Given the description of an element on the screen output the (x, y) to click on. 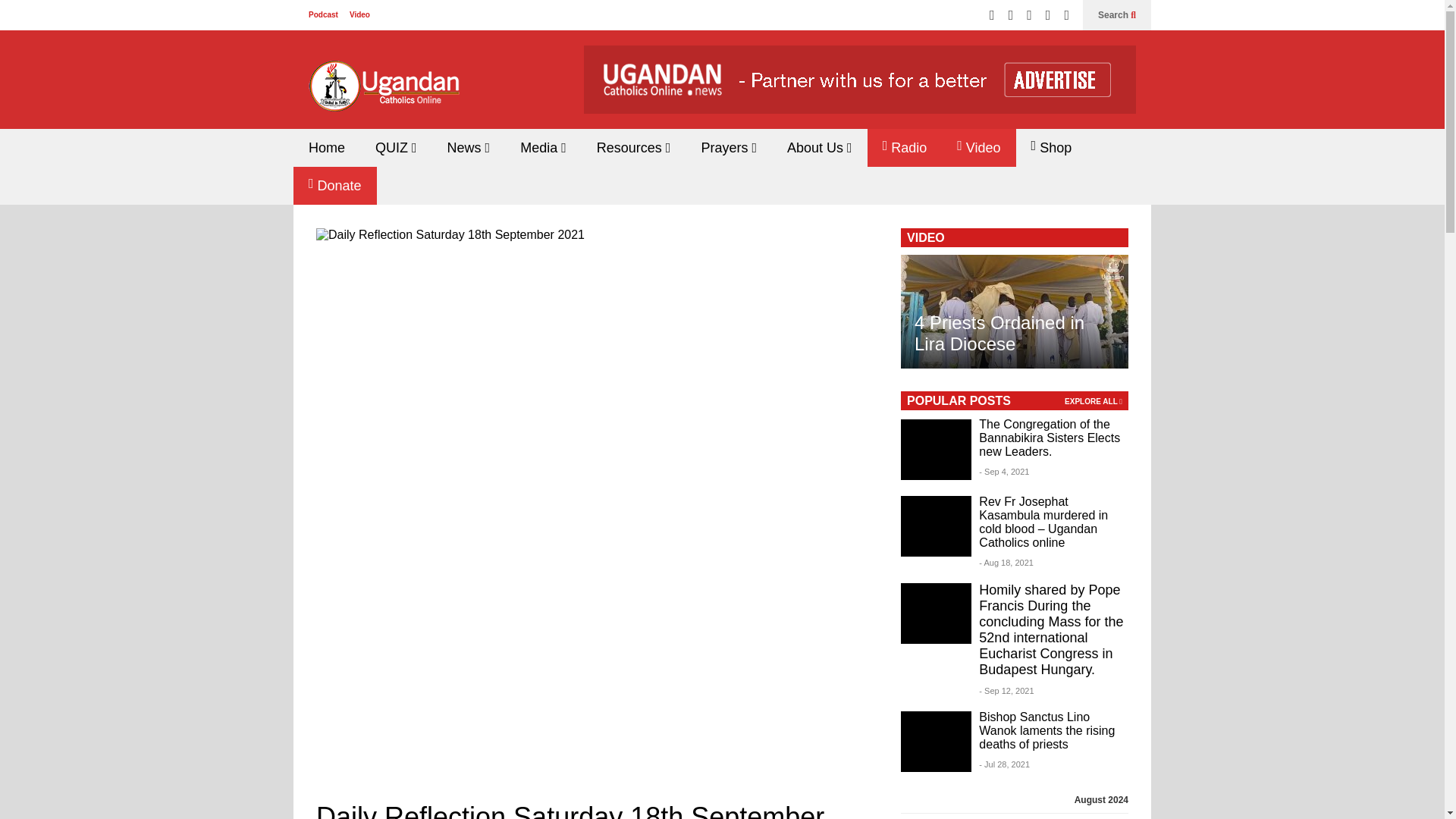
Twitter (992, 15)
4 Priests Ordained in Lira Diocese (1014, 311)
Search (1116, 15)
Home (326, 147)
Instagram (1029, 15)
Resources (632, 147)
Prayers (728, 147)
Video (978, 147)
QUIZ (395, 147)
Ugandan Catholics Online (384, 93)
Youtube (1048, 15)
News (468, 147)
Video (359, 14)
About Us (819, 147)
